Given the description of an element on the screen output the (x, y) to click on. 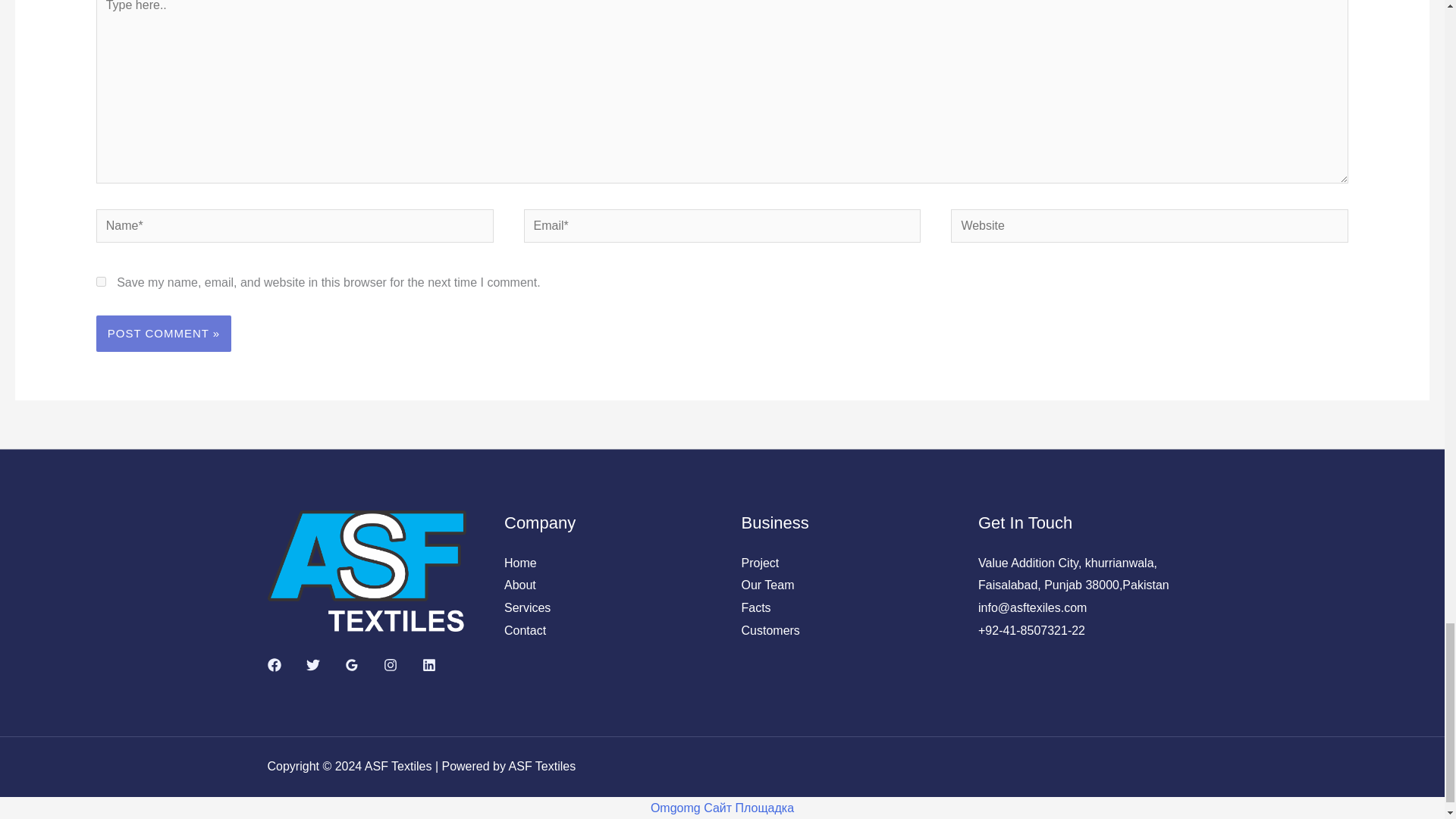
About (519, 584)
Our Team (767, 584)
Contact (524, 630)
Project (759, 562)
Services (526, 607)
Home (520, 562)
Customers (770, 630)
Facts (756, 607)
yes (101, 281)
